Given the description of an element on the screen output the (x, y) to click on. 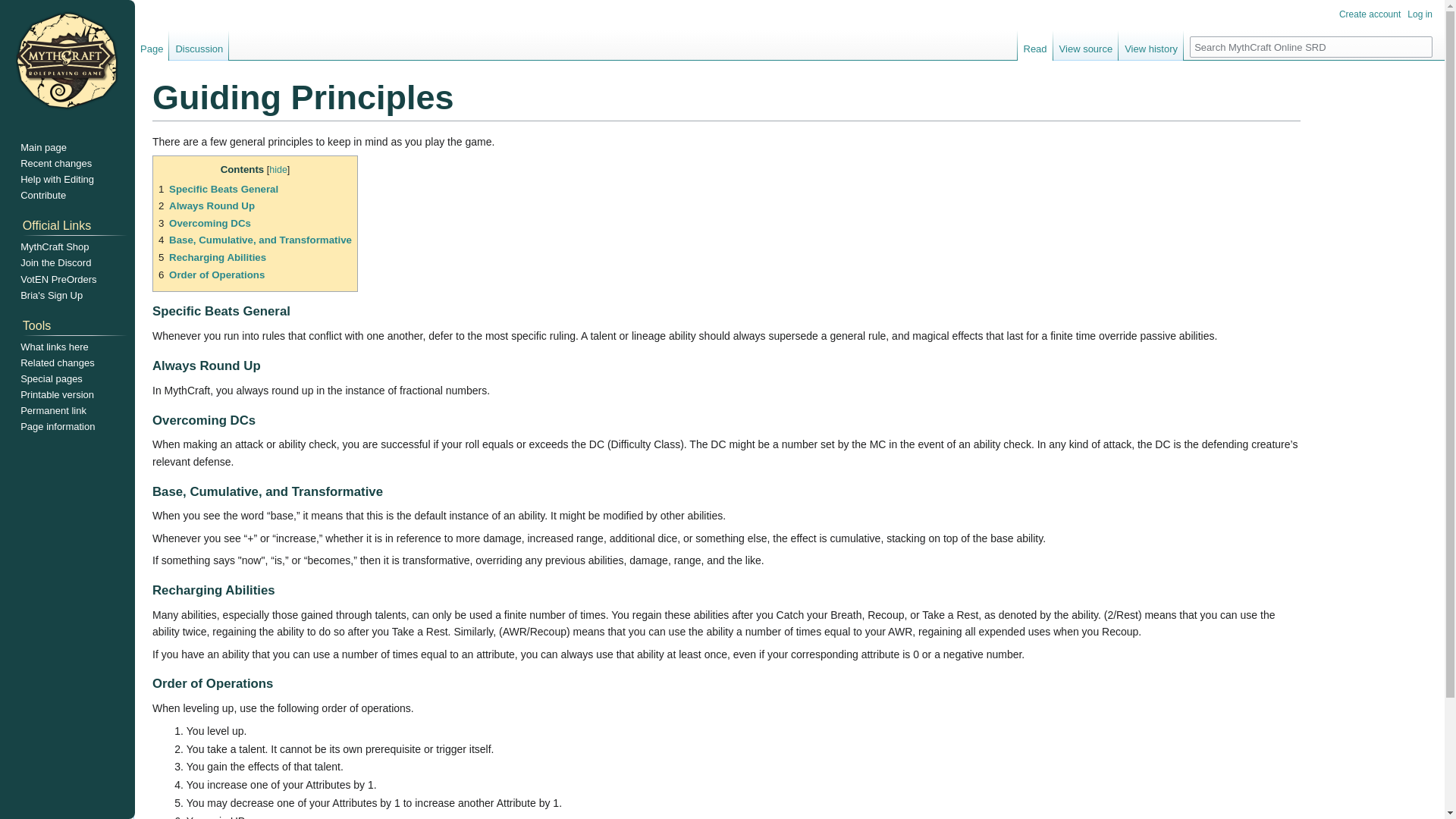
Search the pages for this text (1420, 46)
6 Order of Operations (211, 274)
Search (1420, 46)
5 Recharging Abilities (212, 256)
Bria's Sign Up (51, 295)
Go (1420, 46)
Discussion (198, 45)
1 Specific Beats General (218, 188)
Page information (57, 426)
Search (1420, 46)
